Given the description of an element on the screen output the (x, y) to click on. 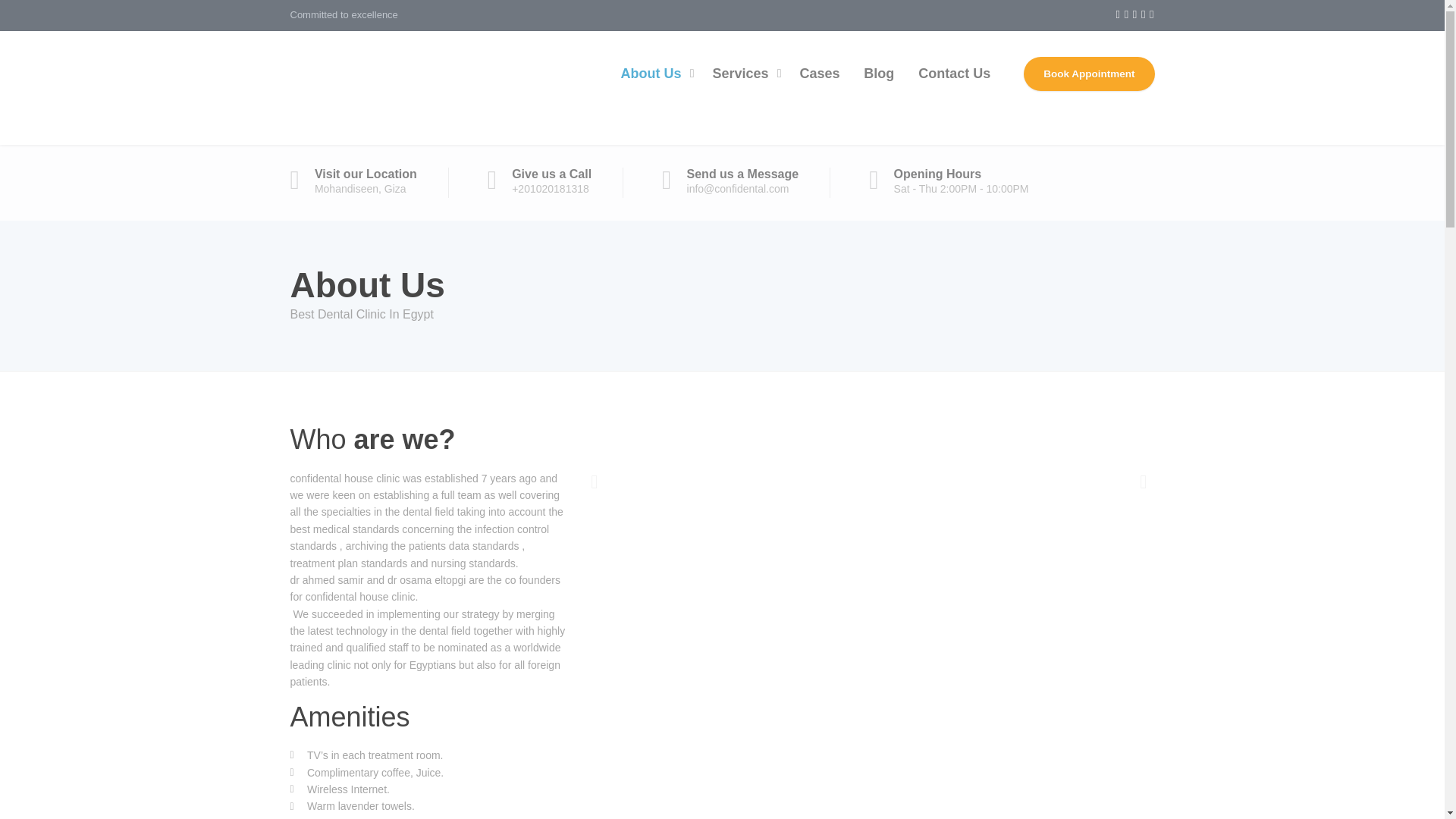
Book Appointment (1088, 73)
confidental house (402, 87)
Contact Us (954, 74)
About Us (654, 74)
Services (743, 74)
